Given the description of an element on the screen output the (x, y) to click on. 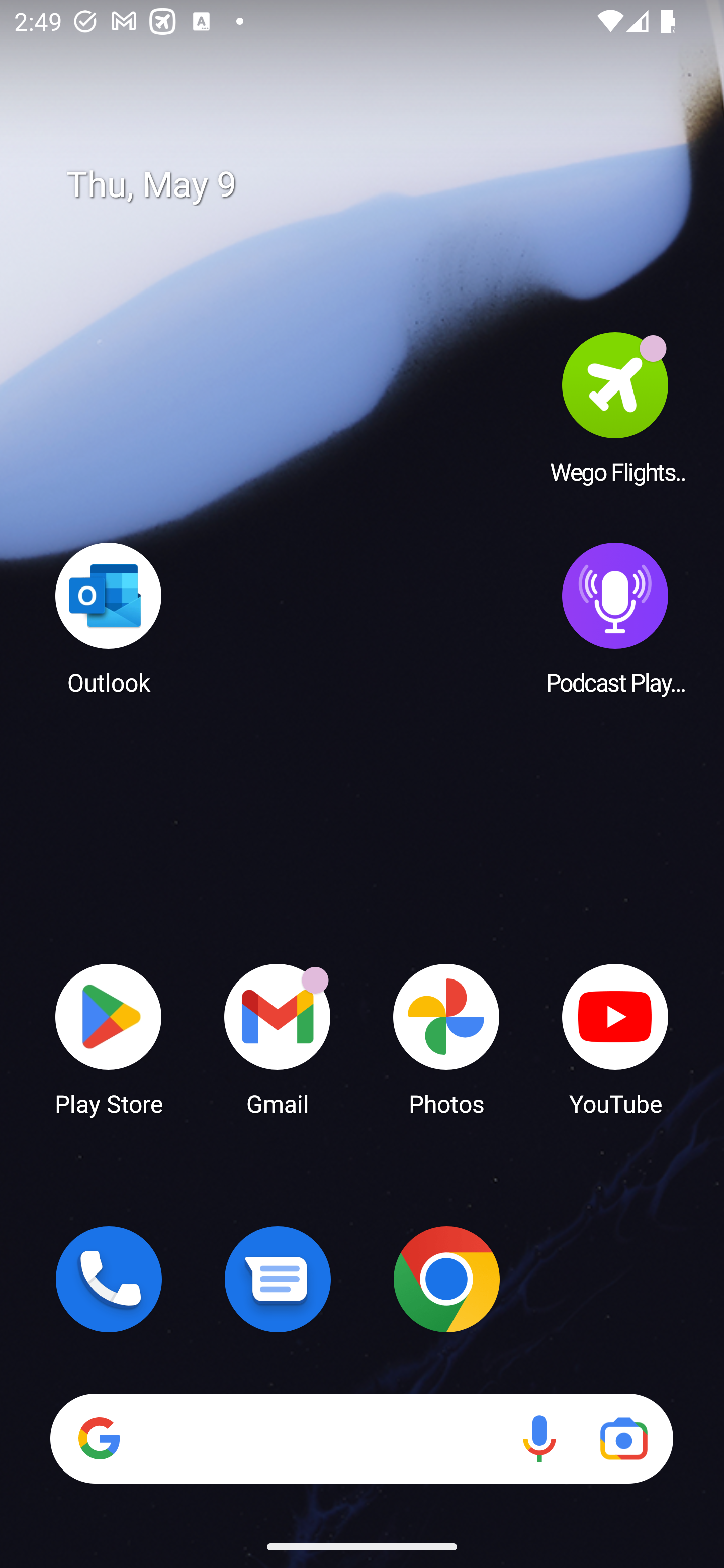
Thu, May 9 (375, 184)
Outlook (108, 617)
Podcast Player (615, 617)
Play Store (108, 1038)
Gmail Gmail has 18 notifications (277, 1038)
Photos (445, 1038)
YouTube (615, 1038)
Phone (108, 1279)
Messages (277, 1279)
Chrome (446, 1279)
Search Voice search Google Lens (361, 1438)
Voice search (539, 1438)
Google Lens (623, 1438)
